Given the description of an element on the screen output the (x, y) to click on. 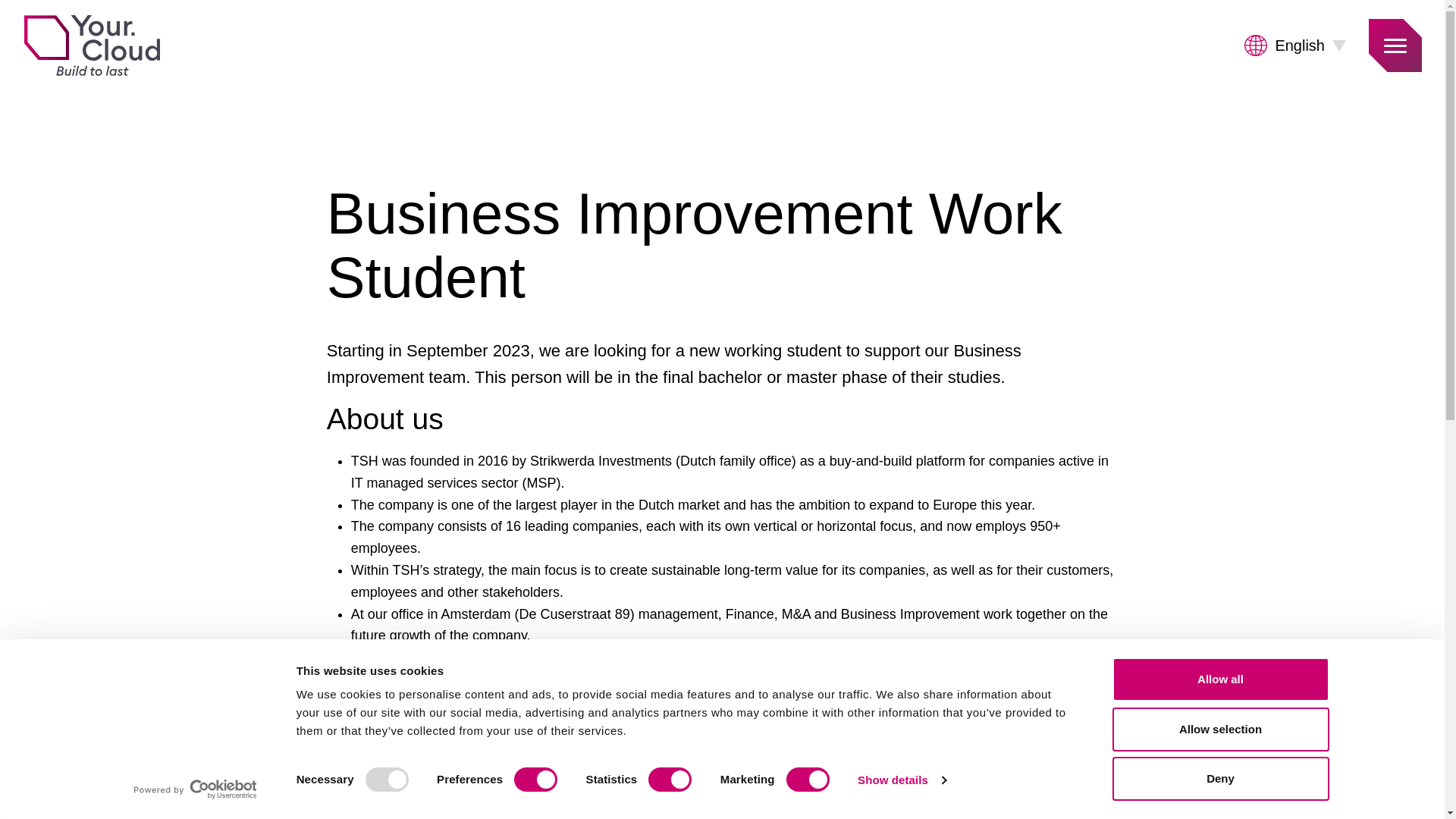
Allow selection (1219, 728)
Allow all (1219, 679)
Your.Cloud (91, 45)
Show details (900, 780)
Deny (1219, 778)
